Given the description of an element on the screen output the (x, y) to click on. 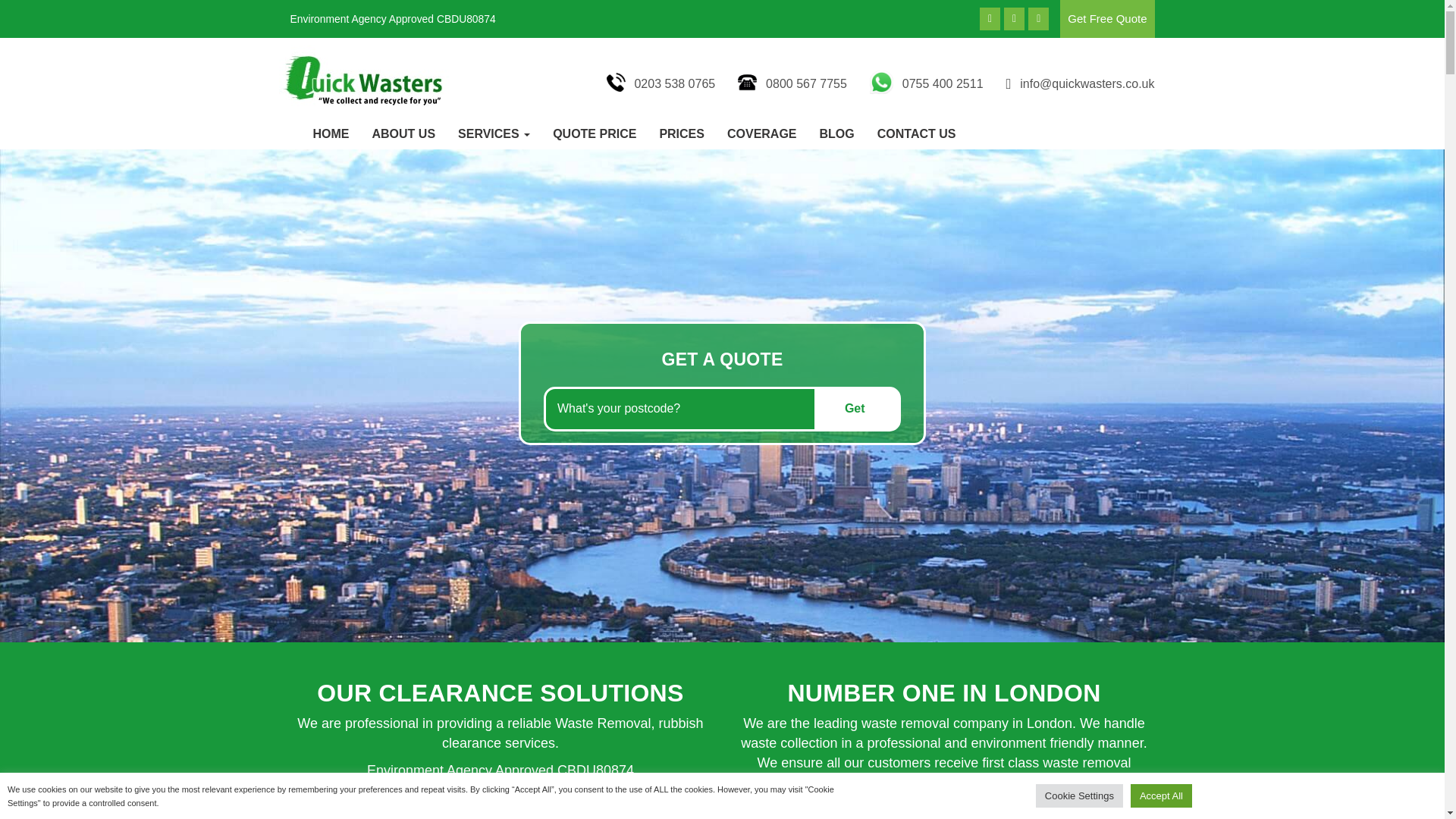
0755 400 2511 (940, 83)
ABOUT US (403, 133)
0800 567 7755 (803, 83)
Get Free Quote (1106, 18)
0203 538 0765 (670, 83)
Get  (858, 408)
HOME (331, 133)
